Given the description of an element on the screen output the (x, y) to click on. 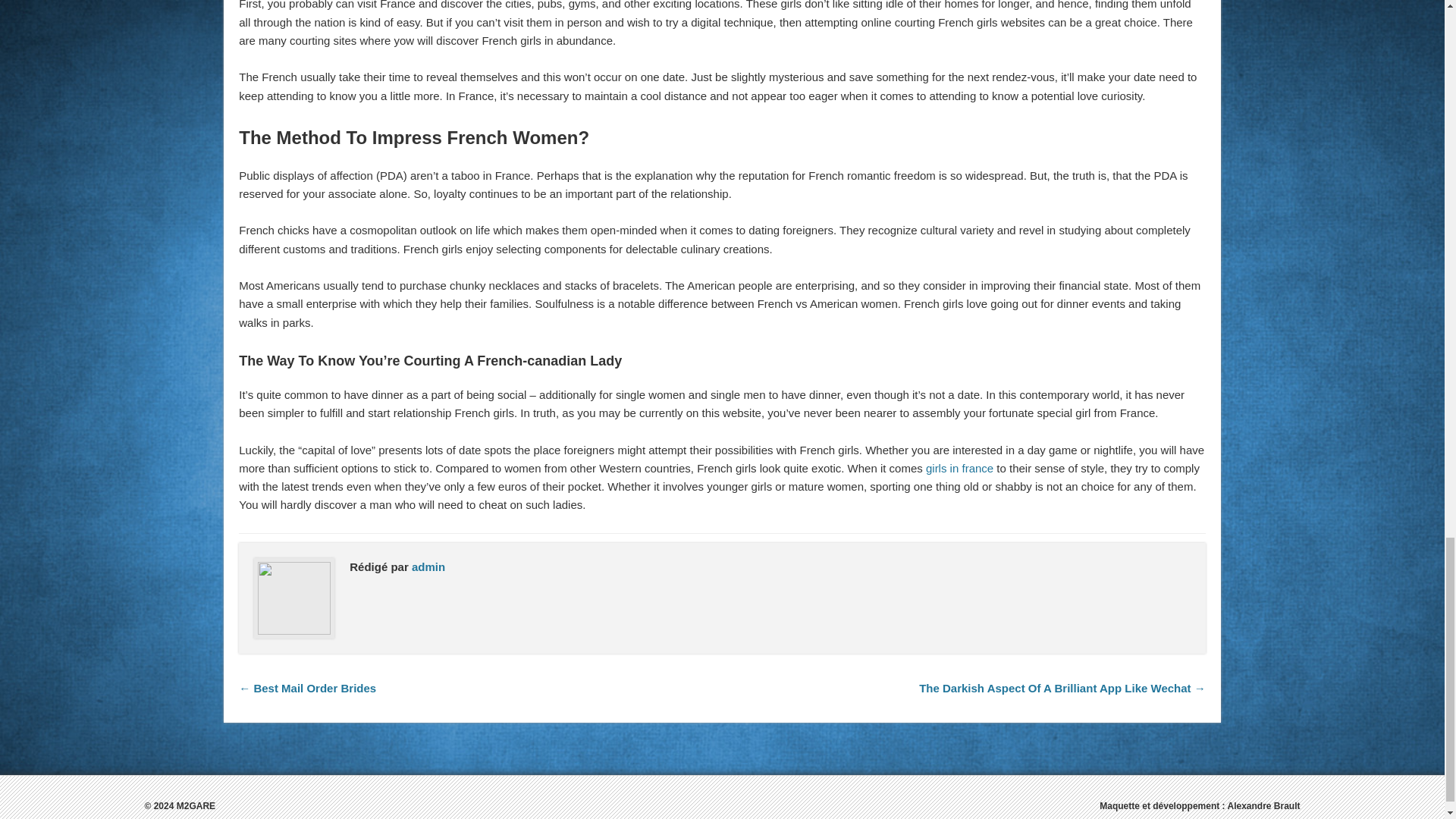
Articles par admin (428, 566)
admin (428, 566)
girls in france (959, 468)
